Given the description of an element on the screen output the (x, y) to click on. 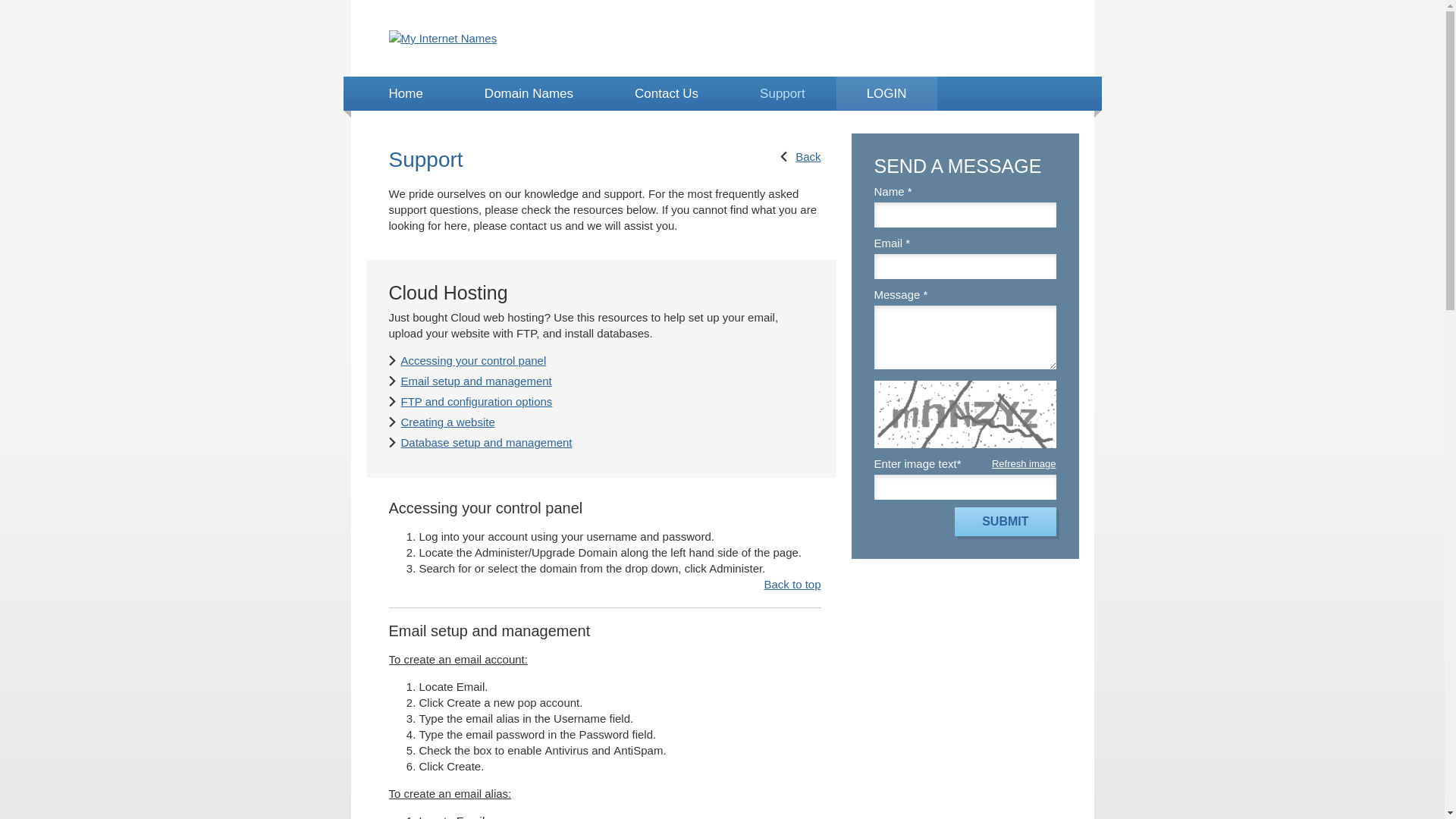
Database setup and management Element type: text (485, 442)
Email setup and management Element type: text (475, 380)
Domain Names Element type: text (528, 93)
LOGIN Element type: text (886, 93)
Home Element type: text (404, 93)
Back Element type: text (800, 156)
Back to top Element type: text (791, 584)
Support Element type: text (782, 93)
Creating a website Element type: text (447, 421)
Refresh image Element type: text (1023, 463)
FTP and configuration options Element type: text (476, 401)
Accessing your control panel Element type: text (473, 360)
Contact Us Element type: text (666, 93)
Submit Element type: text (1004, 521)
